Given the description of an element on the screen output the (x, y) to click on. 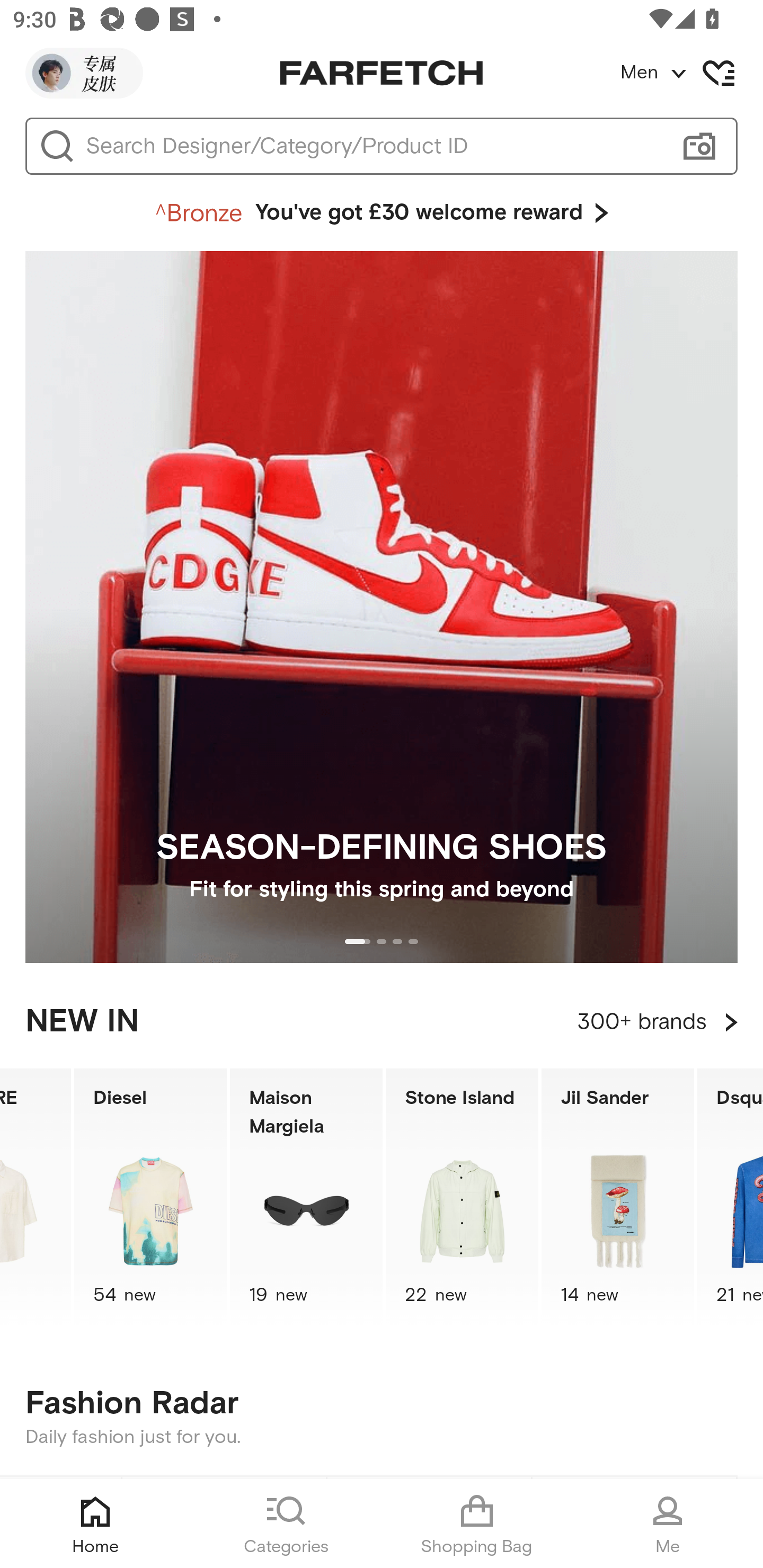
Men (691, 72)
Search Designer/Category/Product ID (373, 146)
You've got £30 welcome reward (381, 213)
NEW IN 300+ brands (381, 1021)
Diesel 54  new (150, 1196)
Maison Margiela 19  new (305, 1196)
Stone Island 22  new (462, 1196)
Jil Sander 14  new (617, 1196)
Categories (285, 1523)
Shopping Bag (476, 1523)
Me (667, 1523)
